Given the description of an element on the screen output the (x, y) to click on. 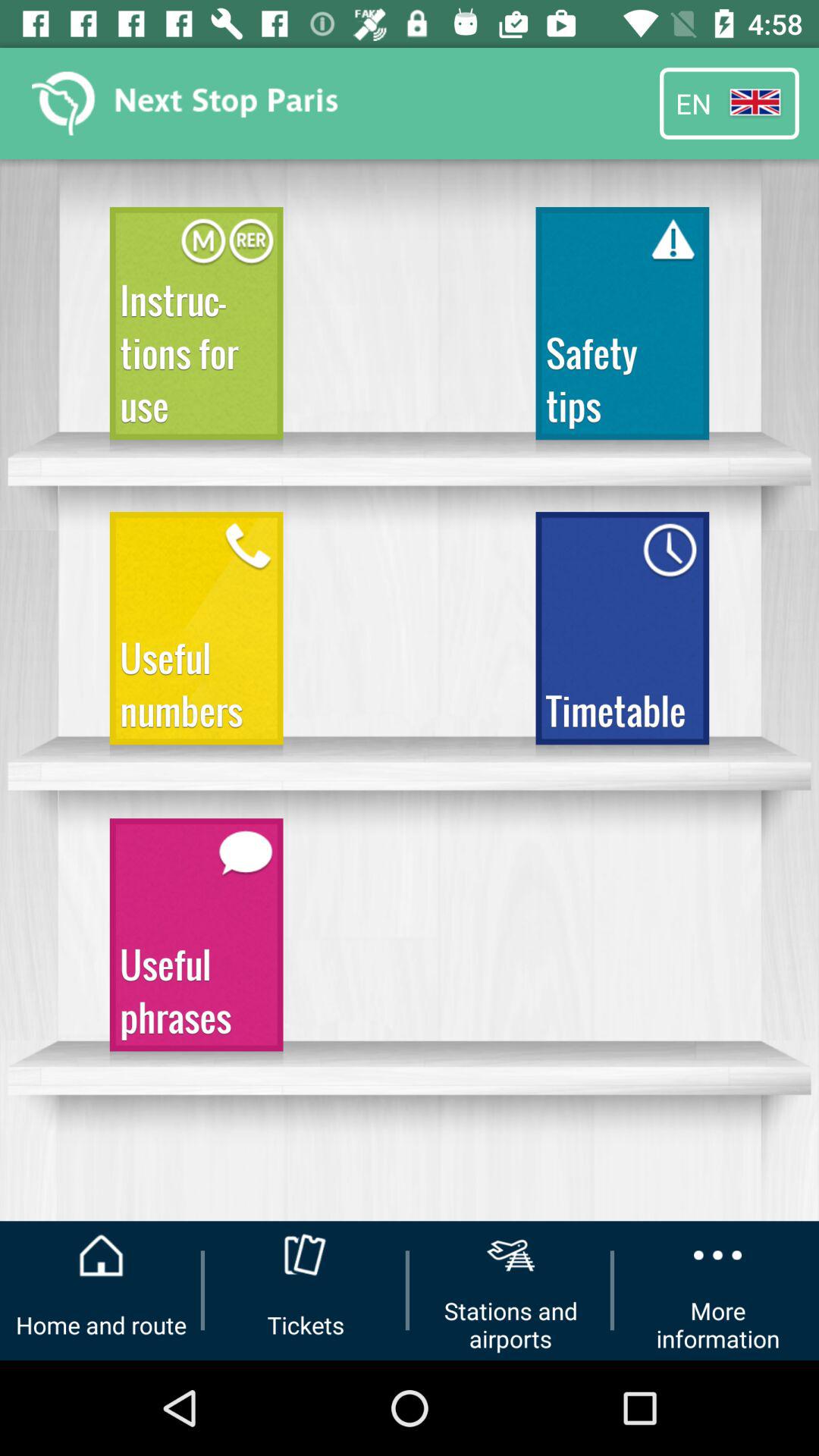
scroll until timetable item (622, 634)
